Given the description of an element on the screen output the (x, y) to click on. 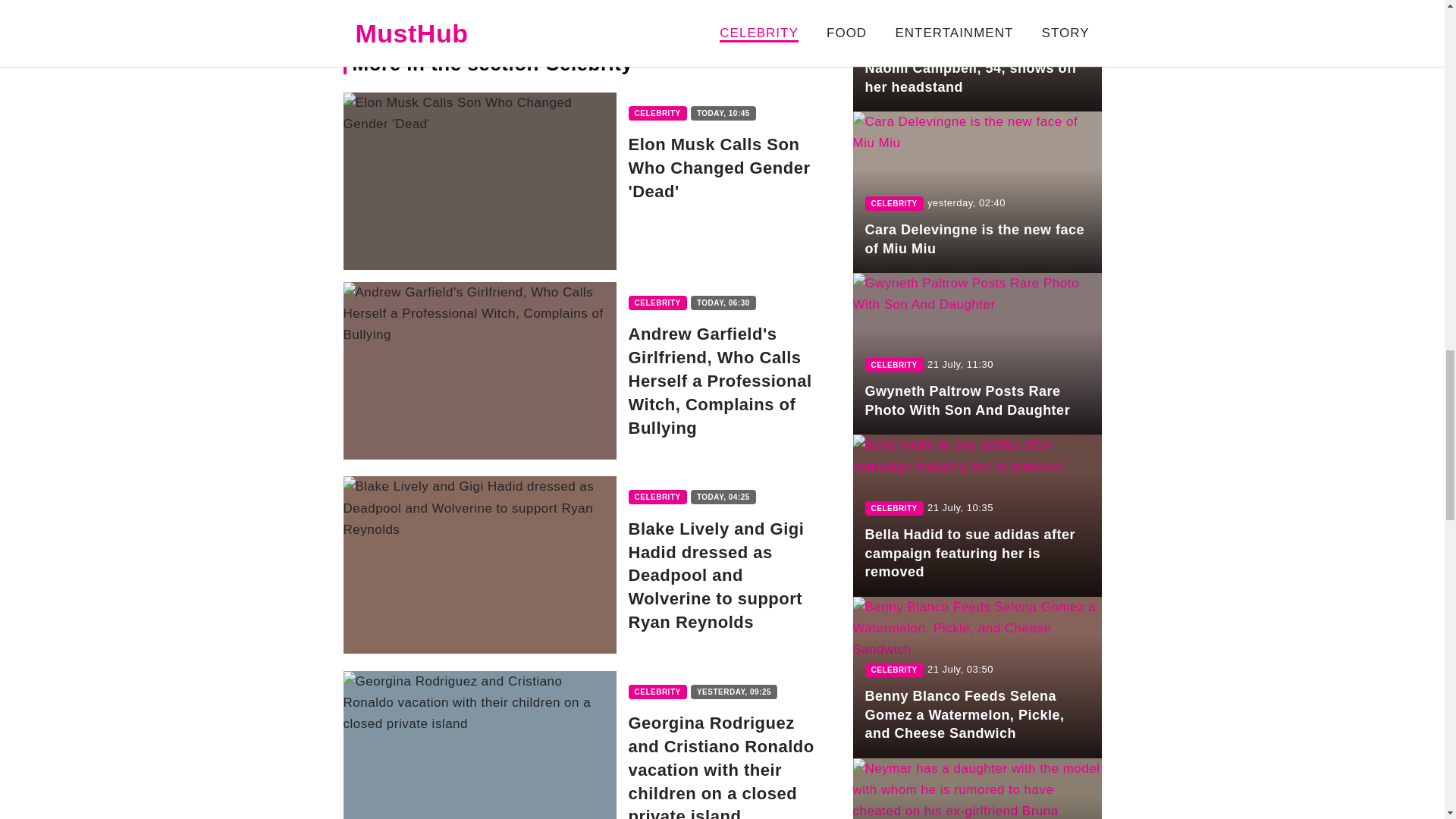
WhatsUp (643, 8)
Telegram (761, 8)
Facebook (406, 8)
Elon Musk Calls Son Who Changed Gender 'Dead' (591, 181)
